Given the description of an element on the screen output the (x, y) to click on. 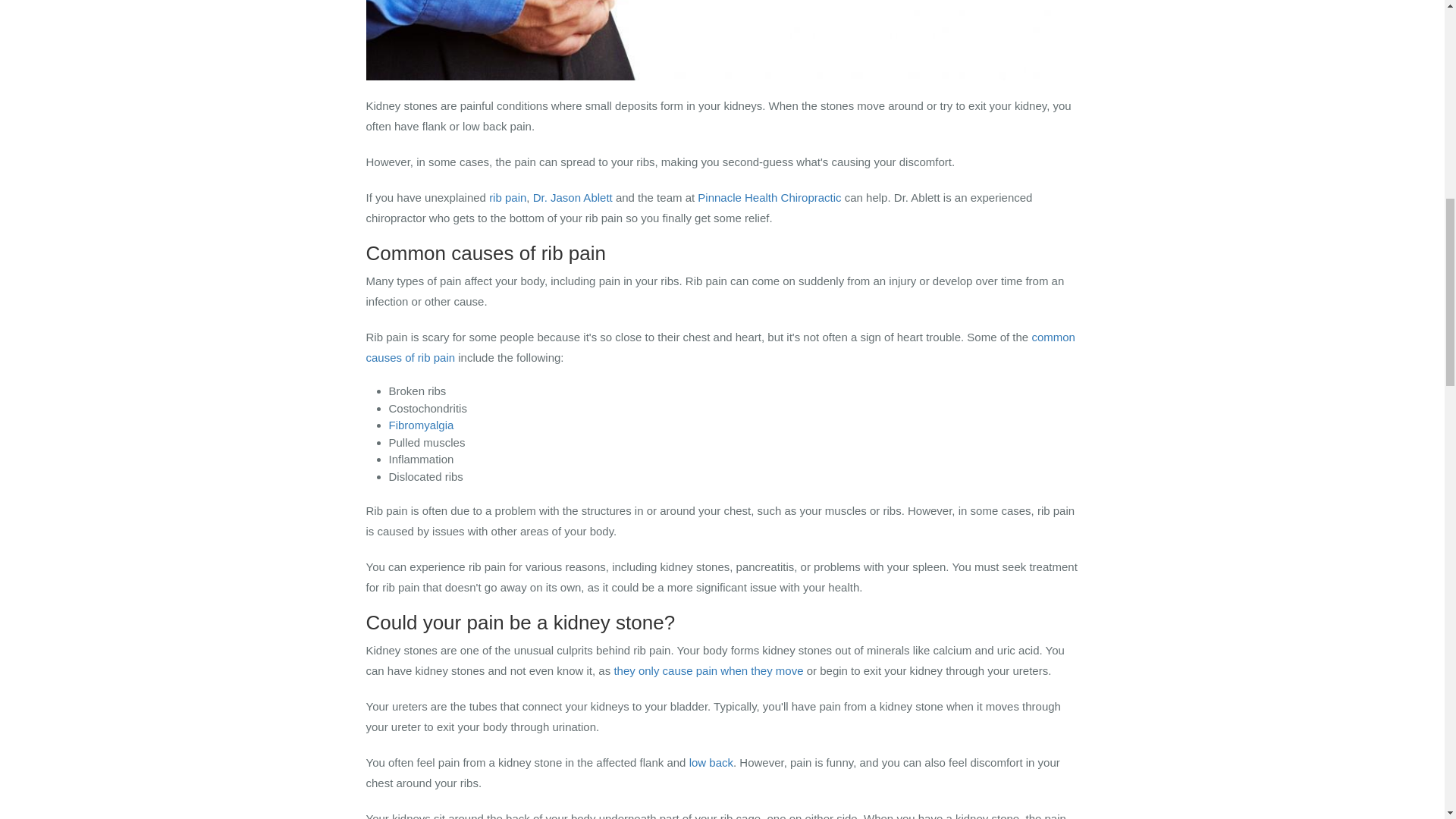
Dr. Jason Ablett (572, 196)
Fibromyalgia (420, 424)
low back (710, 762)
Pinnacle Health Chiropractic (770, 196)
common causes of rib pain (719, 346)
rib pain (507, 196)
they only cause pain when they move (707, 670)
